Given the description of an element on the screen output the (x, y) to click on. 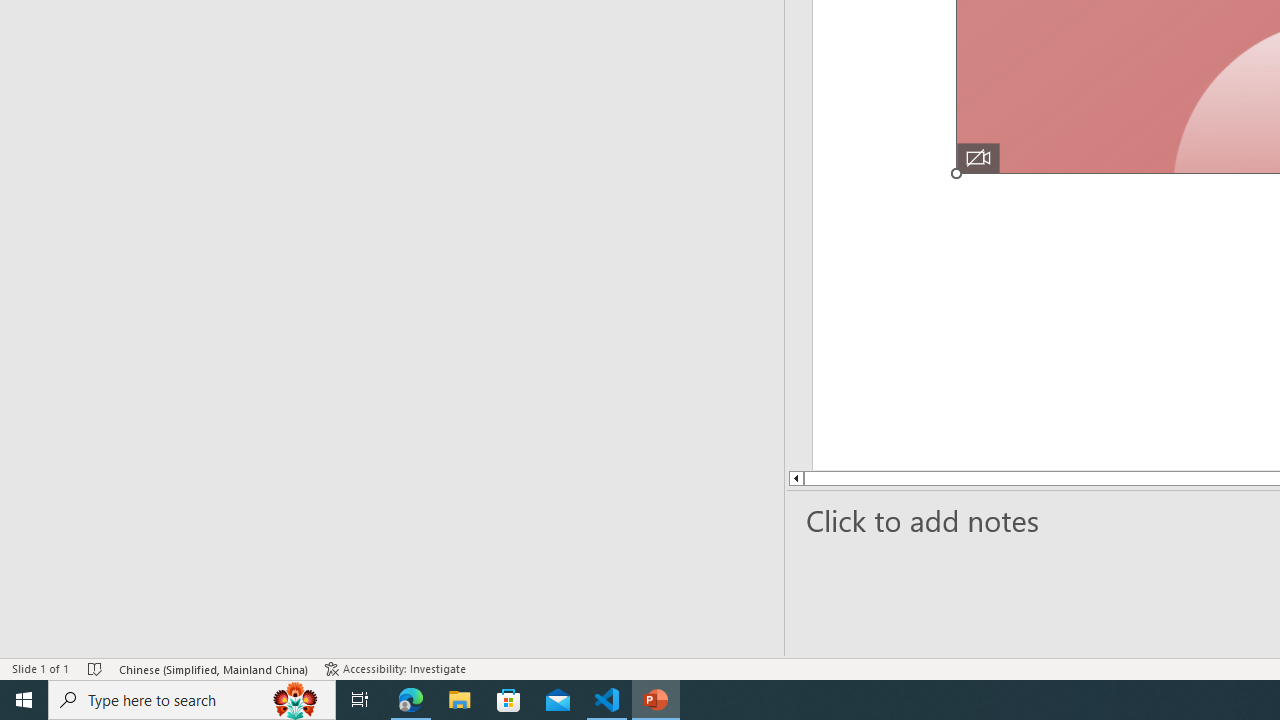
Spell Check No Errors (95, 668)
Accessibility Checker Accessibility: Investigate (397, 668)
Page up (868, 478)
Line up (722, 478)
